Given the description of an element on the screen output the (x, y) to click on. 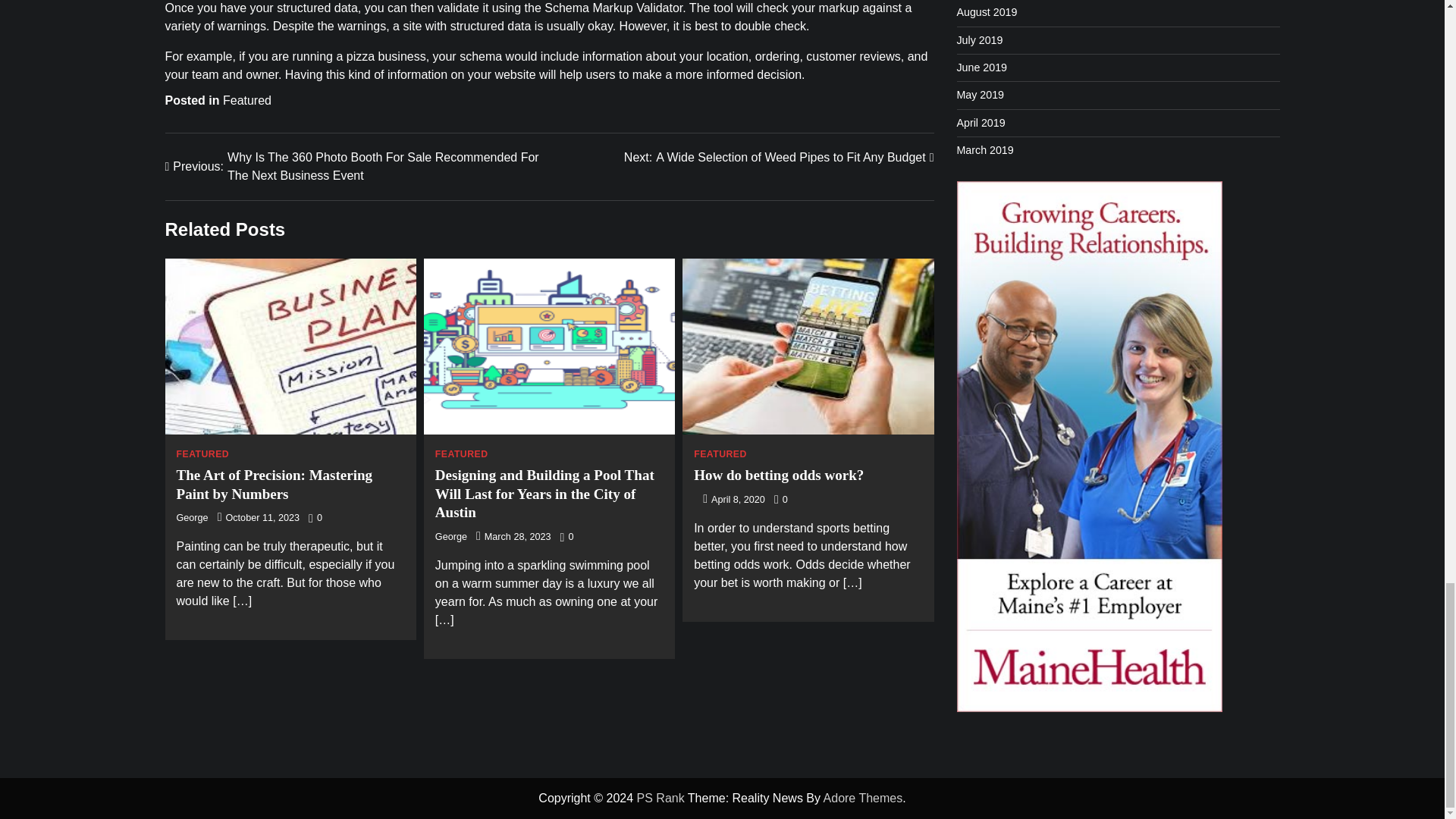
The Art of Precision: Mastering Paint by Numbers (274, 484)
FEATURED (720, 453)
FEATURED (202, 453)
FEATURED (461, 453)
How do betting odds work? (778, 474)
George (451, 536)
George (192, 517)
